Given the description of an element on the screen output the (x, y) to click on. 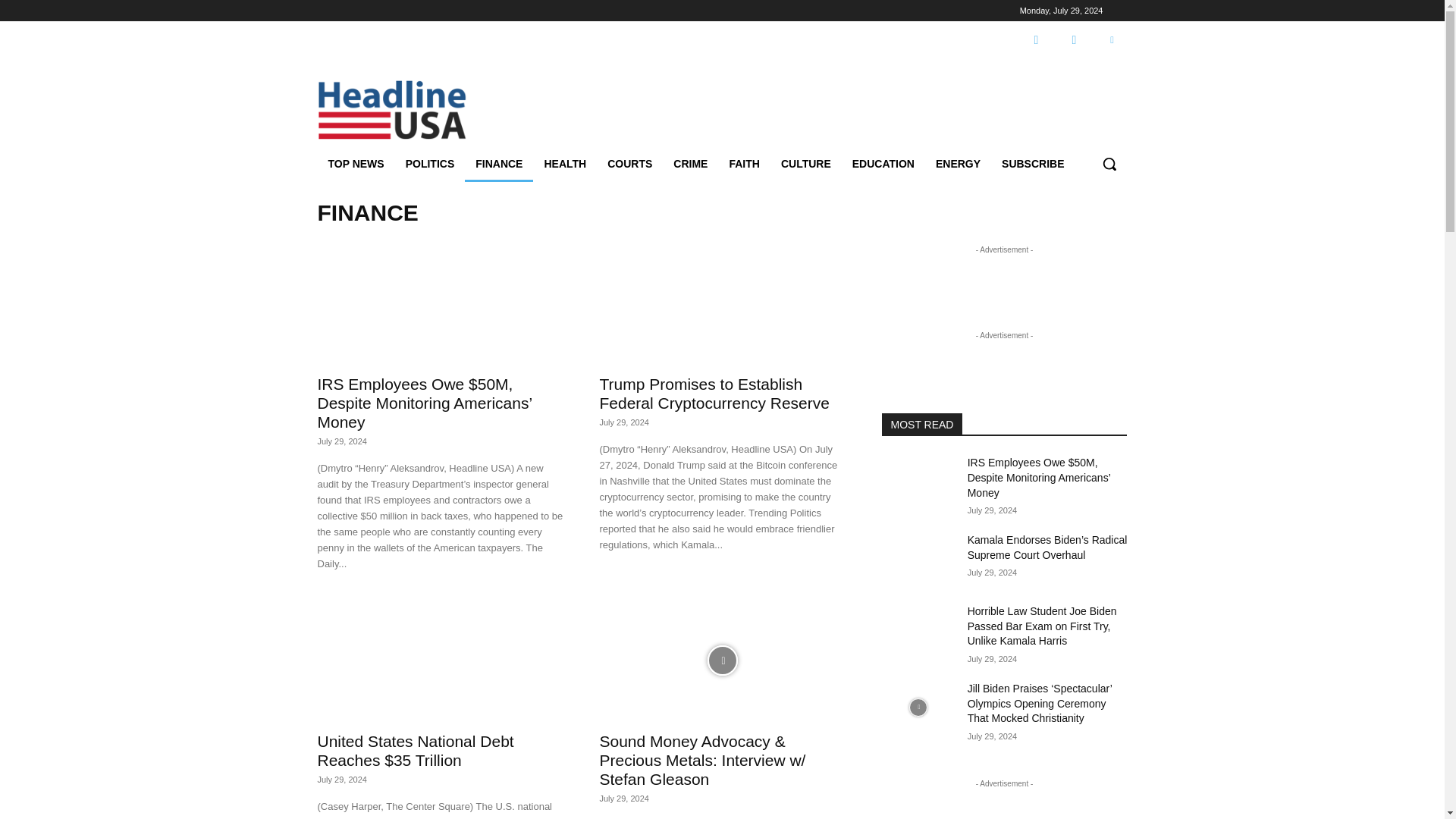
CRIME (689, 163)
EDUCATION (882, 163)
ENERGY (957, 163)
POLITICS (429, 163)
Instagram (1073, 40)
HEALTH (564, 163)
Trump Promises to Establish Federal Cryptocurrency Reserve (713, 393)
TOP NEWS (355, 163)
COURTS (629, 163)
Trump Promises to Establish Federal Cryptocurrency Reserve (721, 302)
FINANCE (498, 163)
Facebook (1035, 40)
Trump Promises to Establish Federal Cryptocurrency Reserve (713, 393)
Twitter (1111, 40)
SUBSCRIBE (1032, 163)
